Given the description of an element on the screen output the (x, y) to click on. 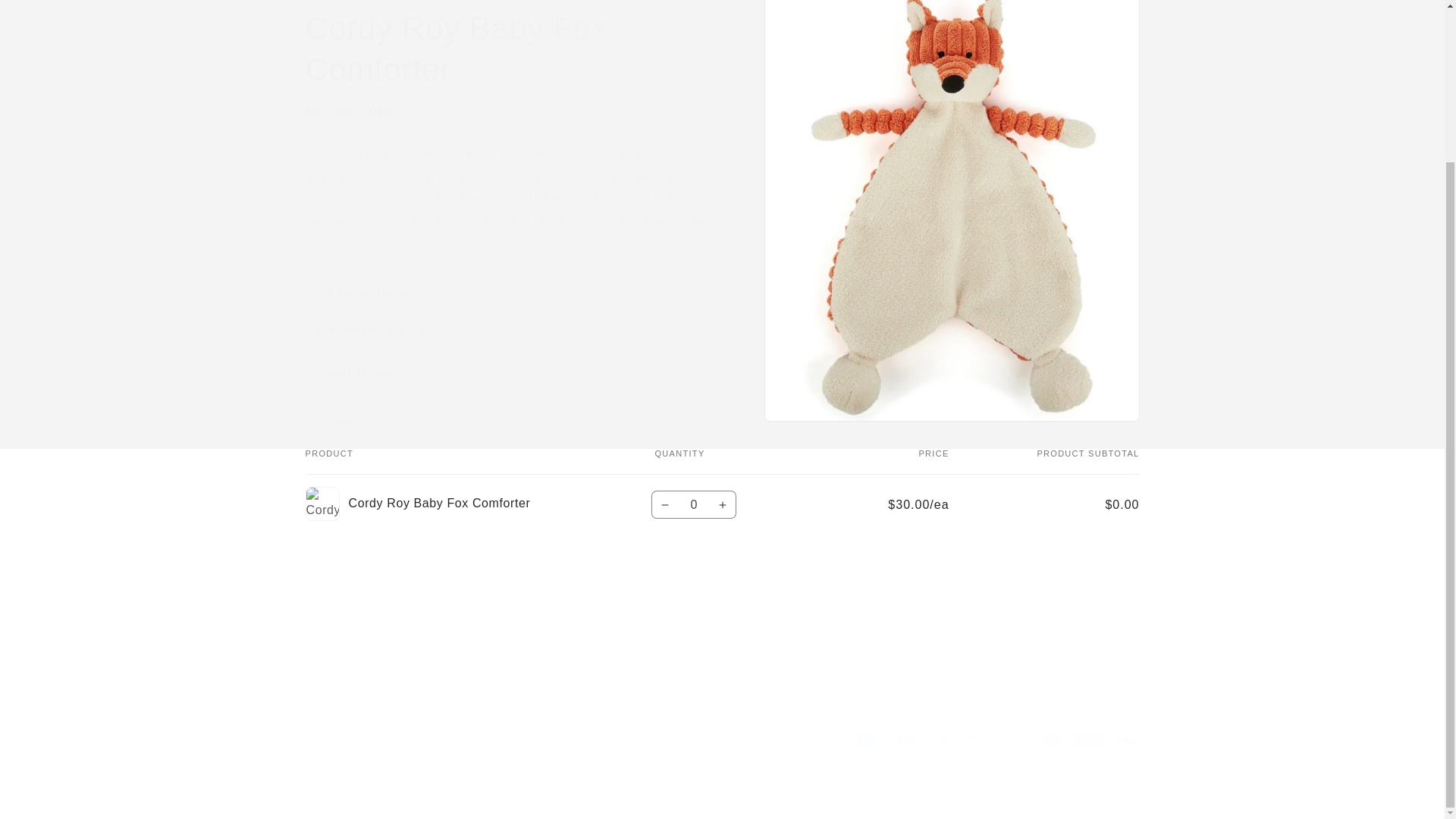
Skip to product information (809, 1)
Decrease quantity for Default Title (665, 504)
Powered by Shopify (483, 798)
Increase quantity for Default Title (723, 504)
Contact information (812, 799)
0 (693, 504)
Privacy policy (641, 799)
Pear Home Orangeville (389, 798)
Terms of service (721, 799)
